Given the description of an element on the screen output the (x, y) to click on. 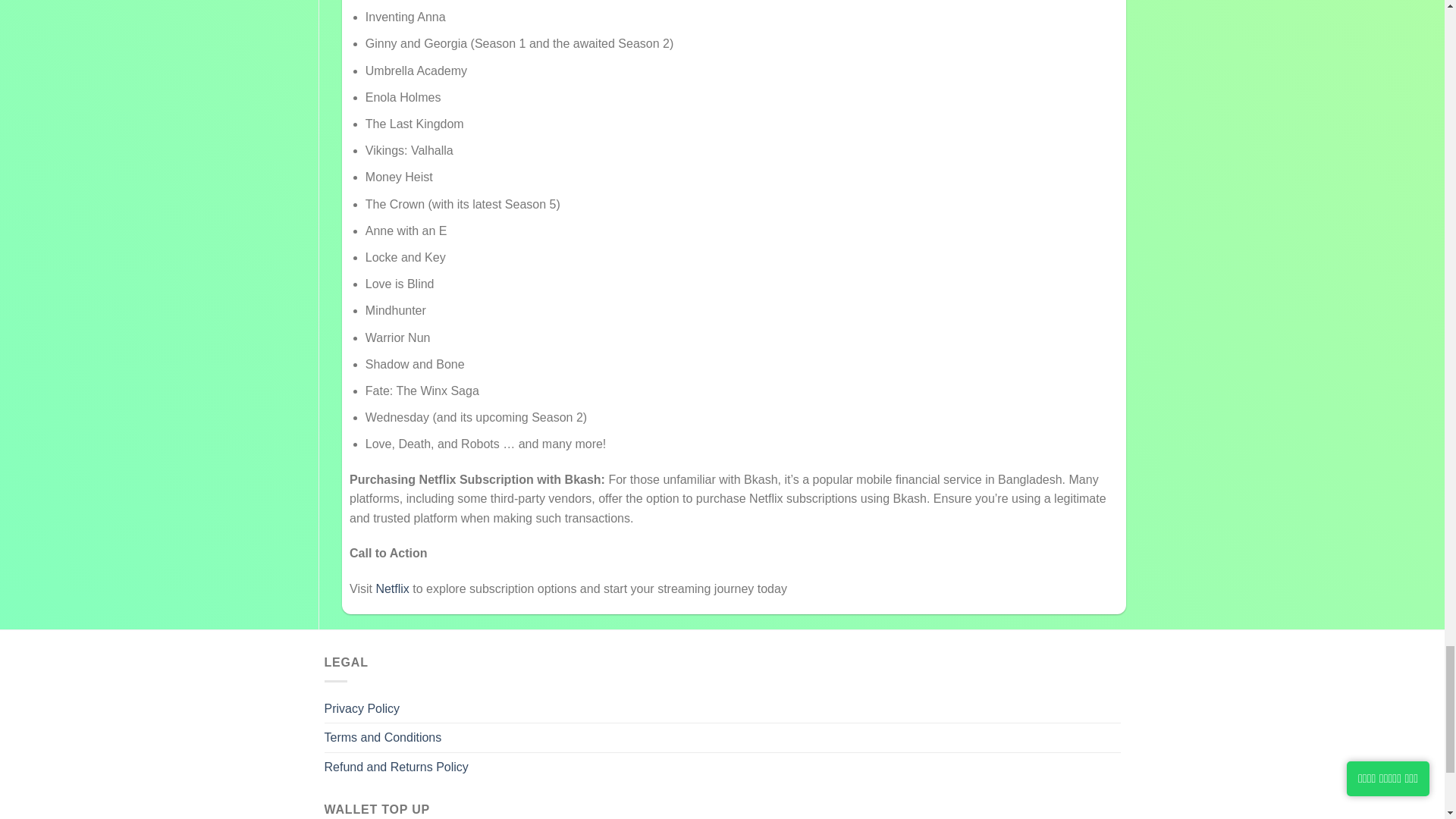
Terms and Conditions (383, 737)
Privacy Policy (362, 708)
Refund and Returns Policy (396, 767)
Netflix (392, 588)
